Given the description of an element on the screen output the (x, y) to click on. 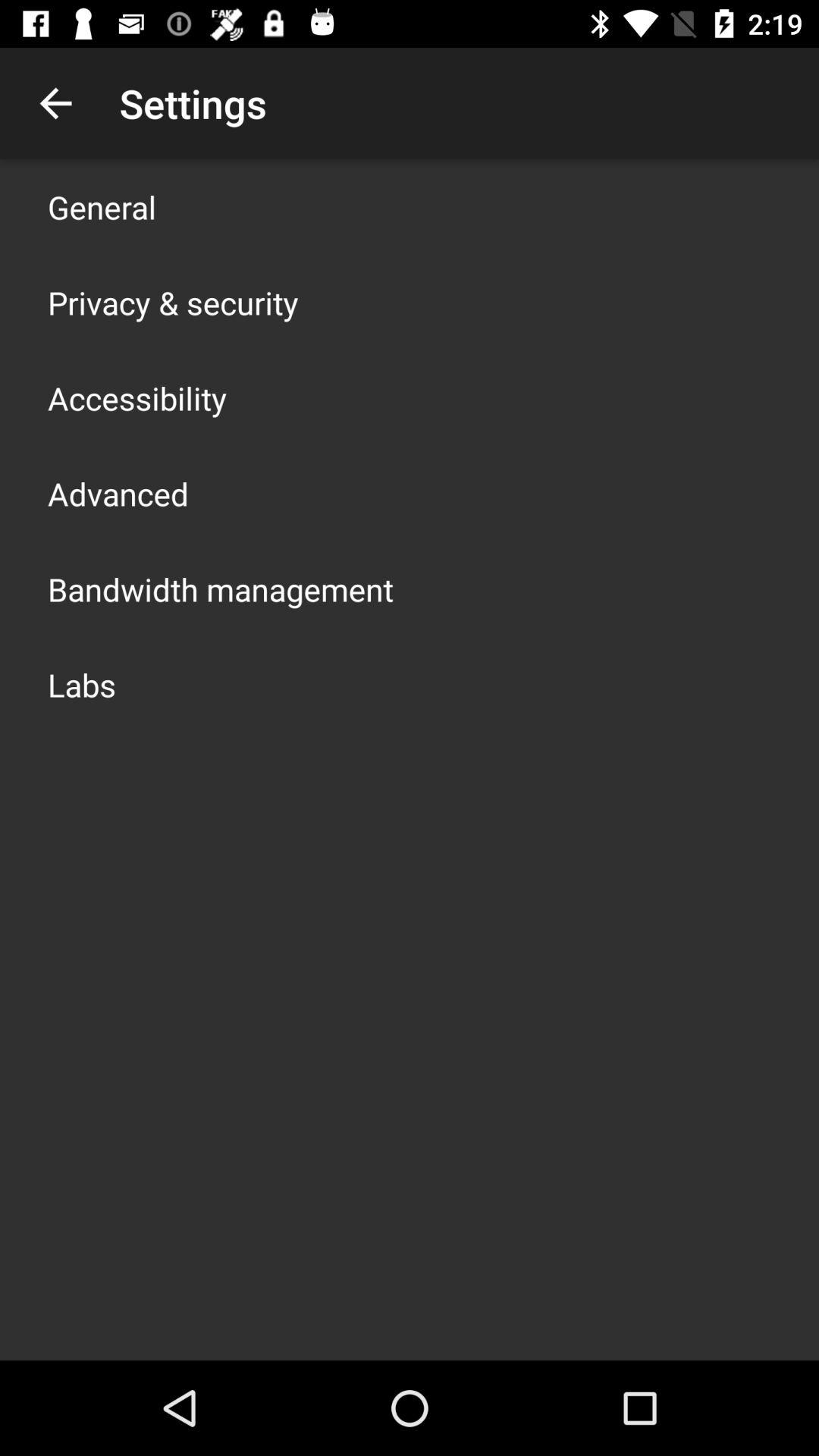
press the item below advanced (220, 588)
